Given the description of an element on the screen output the (x, y) to click on. 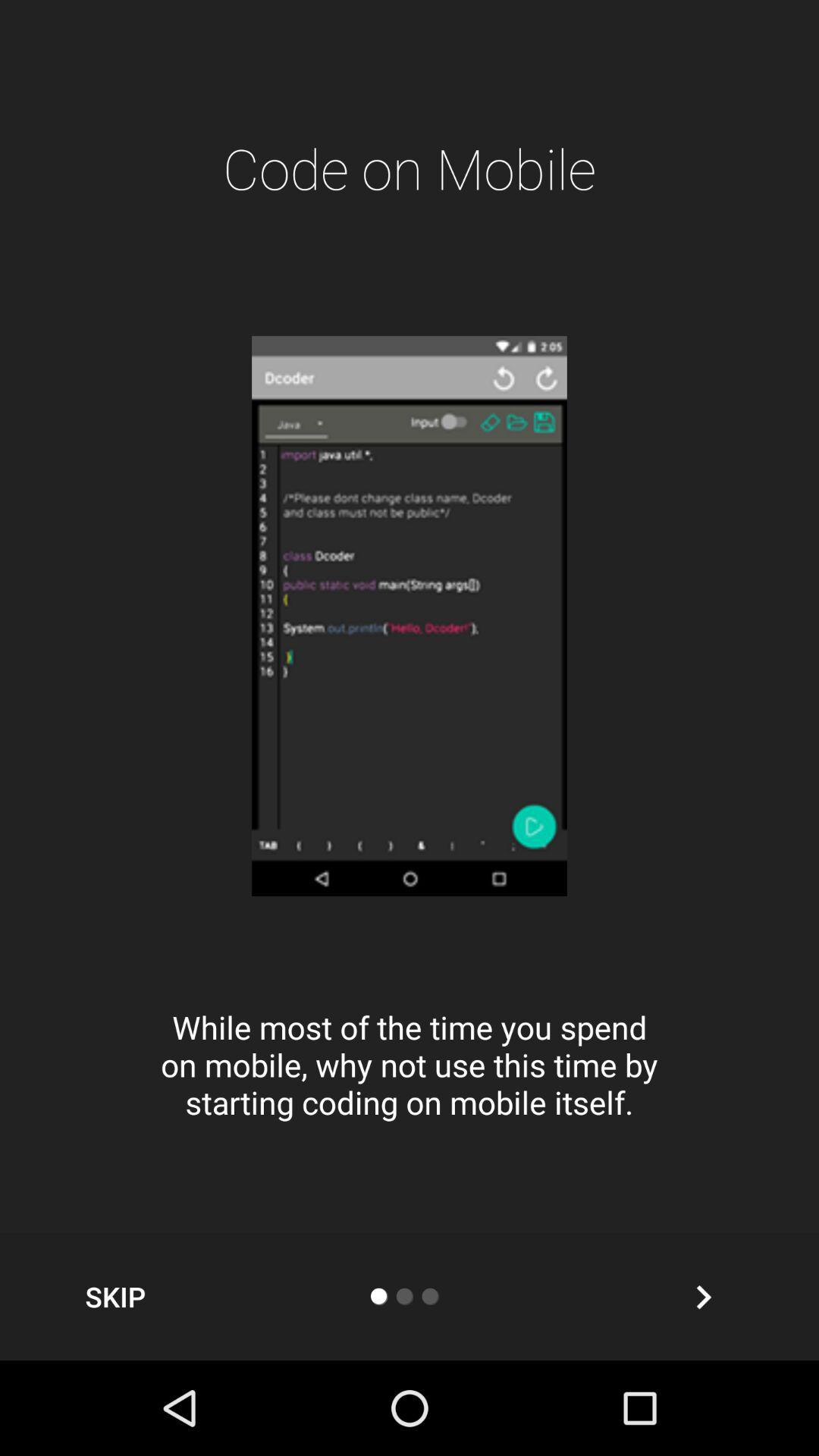
choose the item at the bottom left corner (114, 1296)
